Given the description of an element on the screen output the (x, y) to click on. 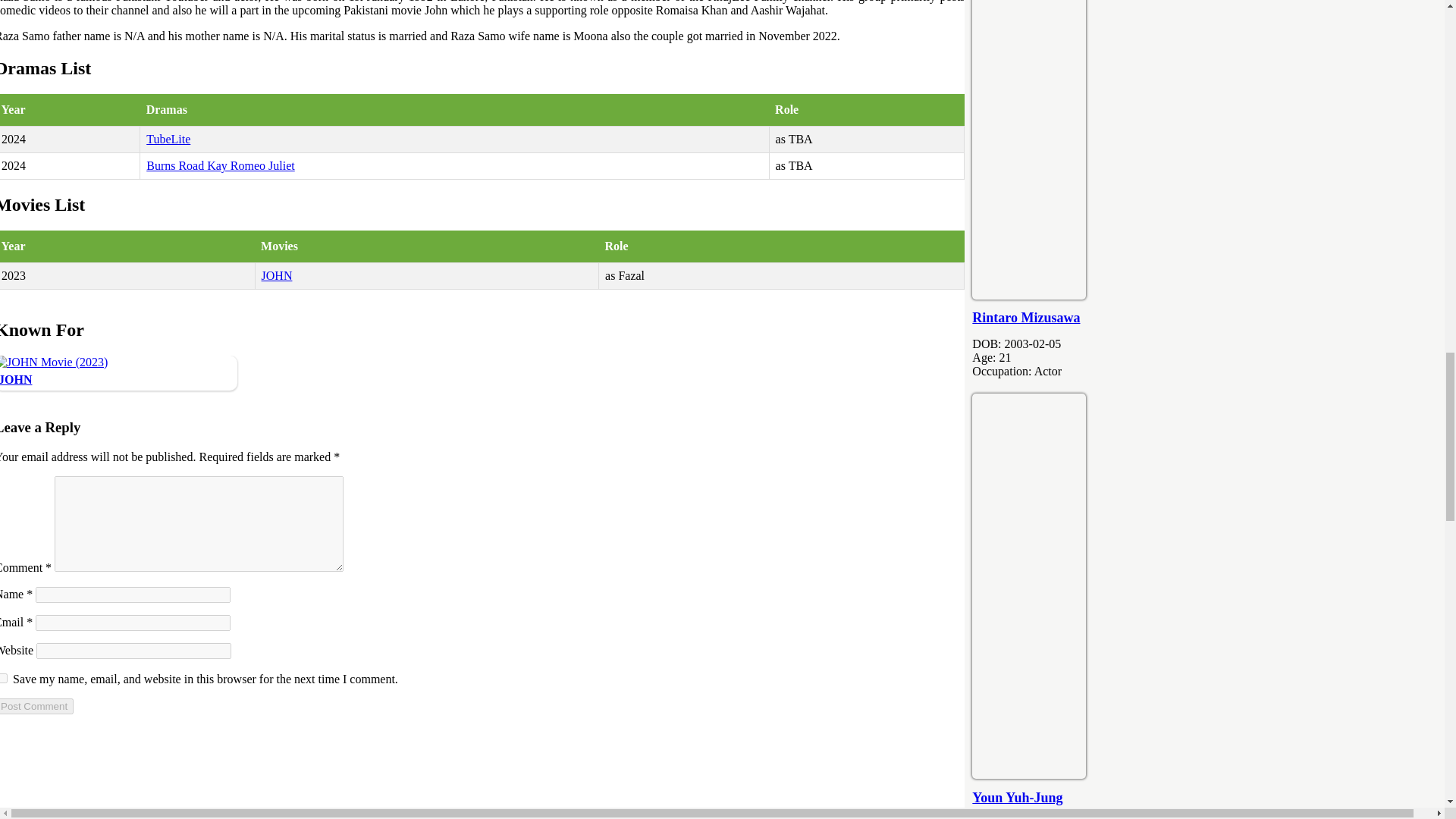
Post Comment (37, 706)
Post Comment (37, 706)
JOHN (277, 275)
JOHN (16, 379)
TubeLite (168, 138)
Burns Road Kay Romeo Juliet (221, 164)
